Given the description of an element on the screen output the (x, y) to click on. 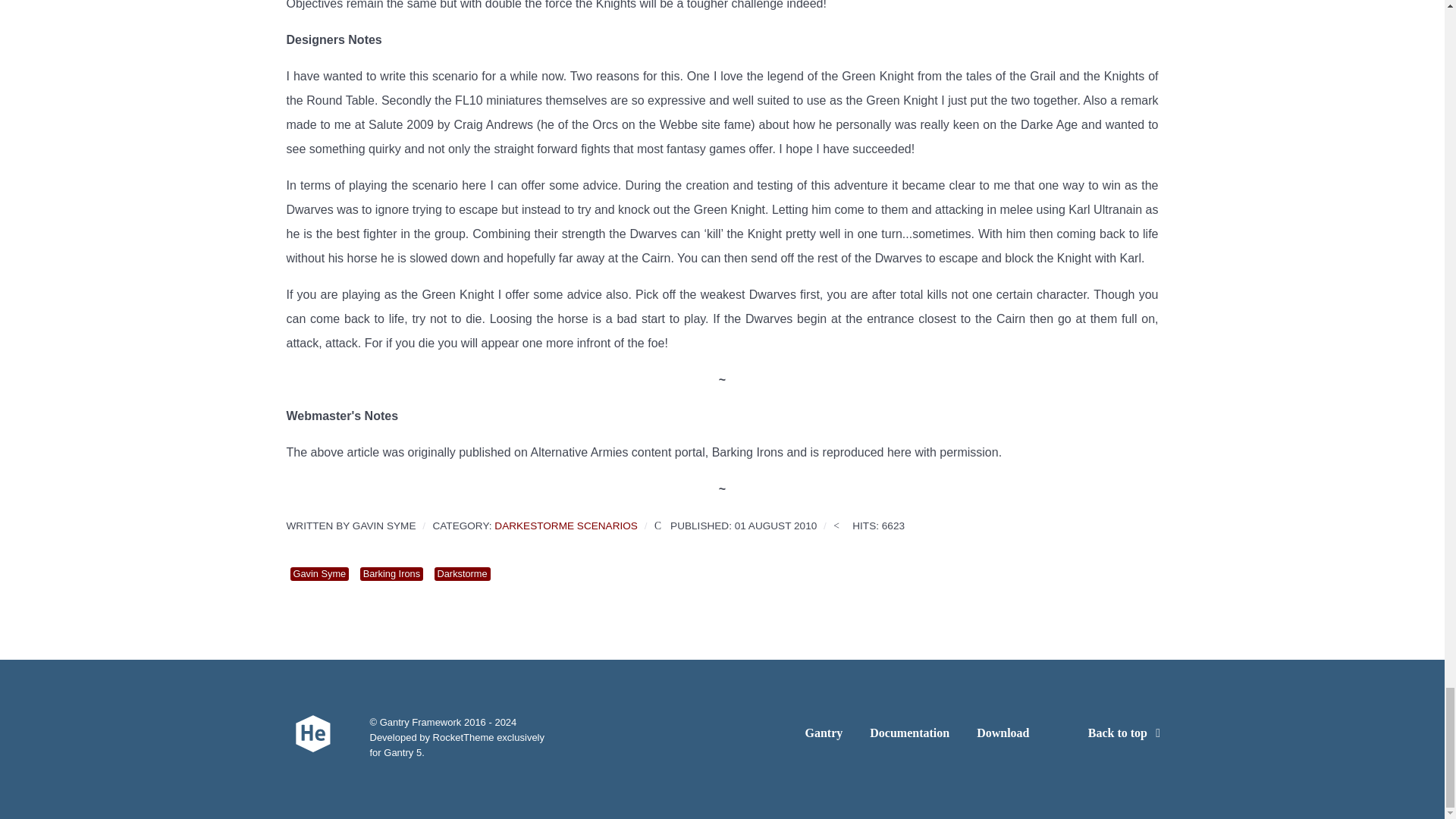
Download (1002, 736)
Gantry (824, 736)
Documentation (909, 736)
Back to top (1126, 732)
